Given the description of an element on the screen output the (x, y) to click on. 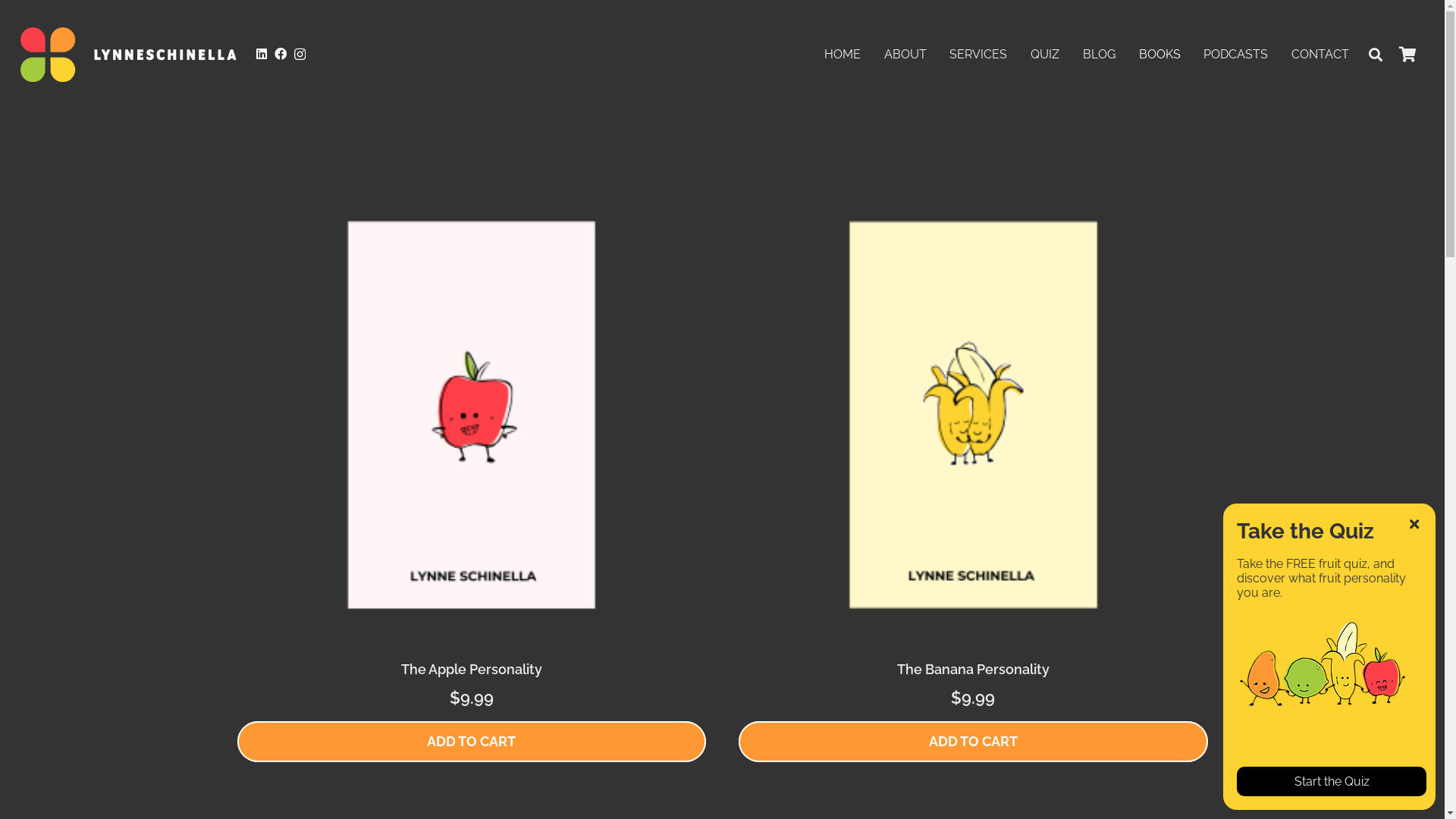
BLOG Element type: text (1099, 54)
QUIZ Element type: text (1045, 54)
ADD TO CART Element type: text (470, 741)
HOME Element type: text (842, 54)
ADD TO CART Element type: text (972, 741)
Instagram Element type: hover (299, 54)
LinkedIn Element type: hover (261, 53)
CONTACT Element type: text (1320, 54)
0 Element type: text (1407, 54)
Start the Quiz Element type: text (1331, 781)
SERVICES Element type: text (978, 54)
ABOUT Element type: text (905, 54)
Facebook Element type: hover (280, 53)
The Apple Personality
$9.99 Element type: text (470, 445)
PODCASTS Element type: text (1236, 54)
The Banana Personality
$9.99 Element type: text (972, 445)
BOOKS Element type: text (1159, 54)
